Given the description of an element on the screen output the (x, y) to click on. 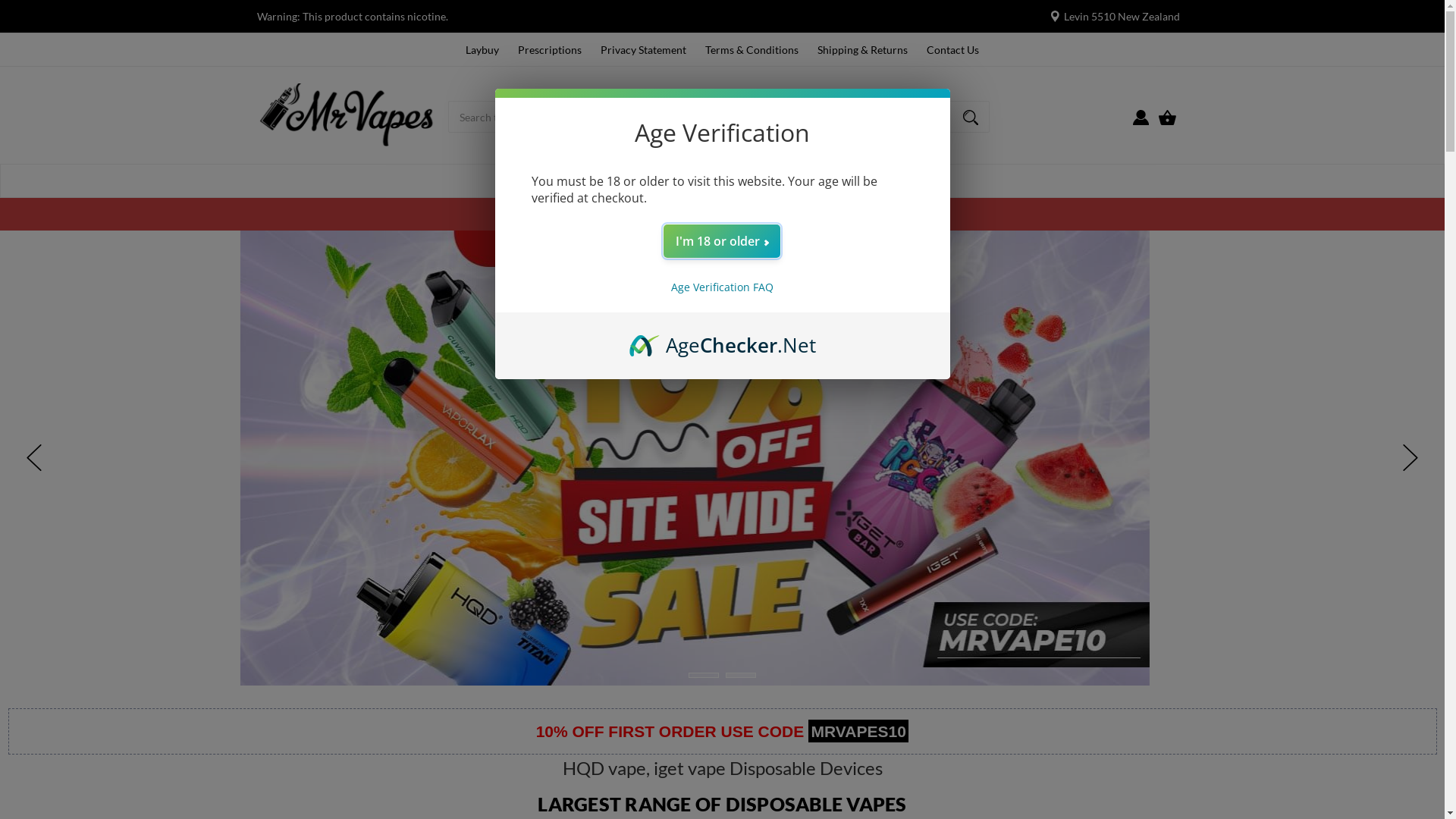
Shipping & Returns Element type: text (862, 49)
Home Element type: text (533, 180)
AgeChecker.Net Element type: text (722, 338)
hero-prev-arrow Element type: text (33, 457)
Ejuice Element type: text (708, 180)
Levin 5510 New Zealand Element type: text (1121, 15)
Prescriptions Element type: text (549, 49)
Compatible Pods Element type: text (797, 180)
Laybuy Element type: text (482, 49)
Hardware Element type: text (896, 180)
Magnifying glass image Large red circle with a black border Element type: text (970, 115)
Privacy Statement Element type: text (643, 49)
Contact Us Element type: text (952, 49)
Age Verification FAQ Element type: text (722, 286)
hero-next-arrow Element type: text (1410, 457)
Terms & Conditions Element type: text (751, 49)
Disposable Vapes Element type: text (618, 180)
Mrvapes Element type: hover (347, 115)
